Given the description of an element on the screen output the (x, y) to click on. 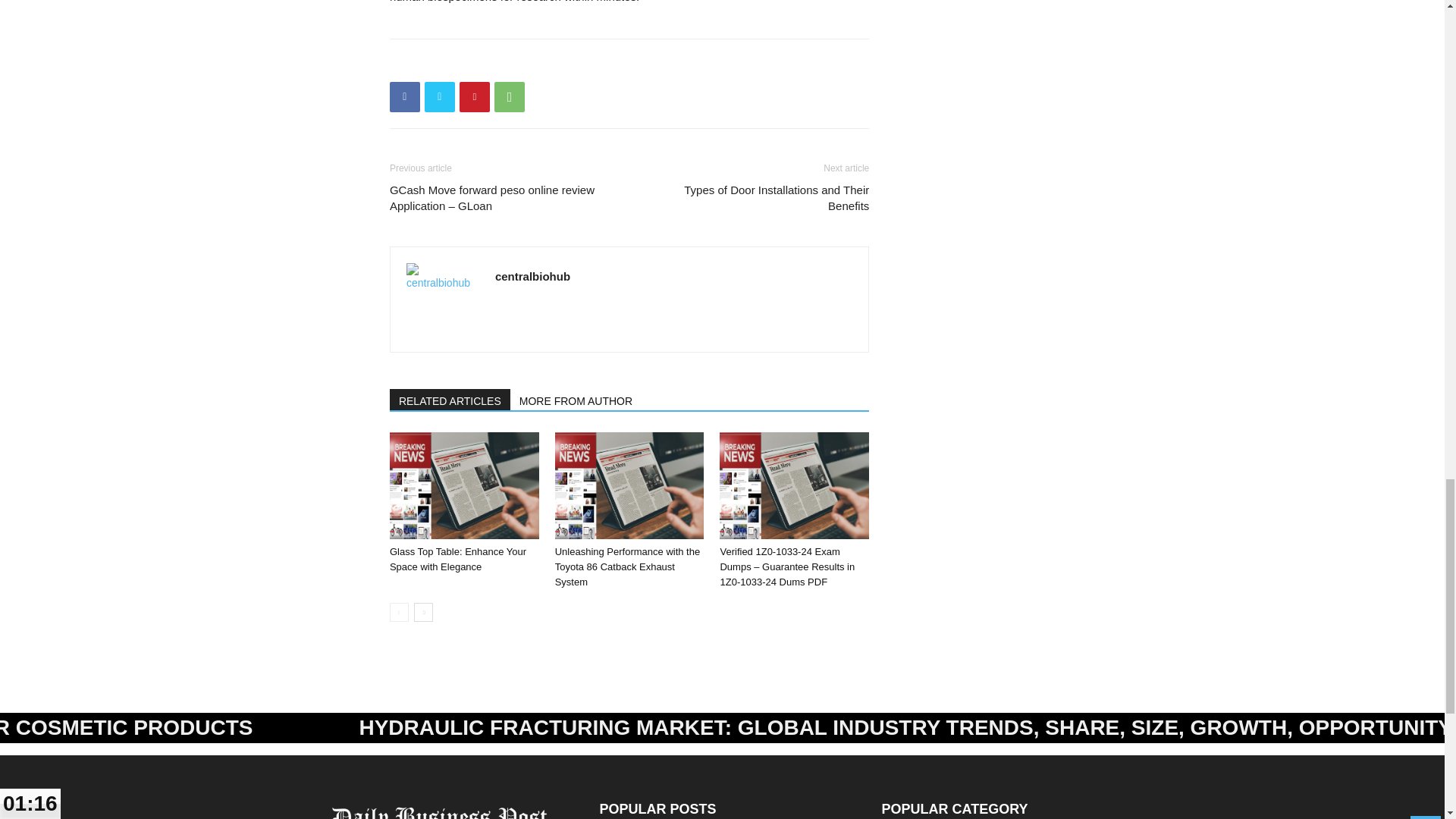
Facebook (405, 96)
bottomFacebookLike (503, 63)
